Given the description of an element on the screen output the (x, y) to click on. 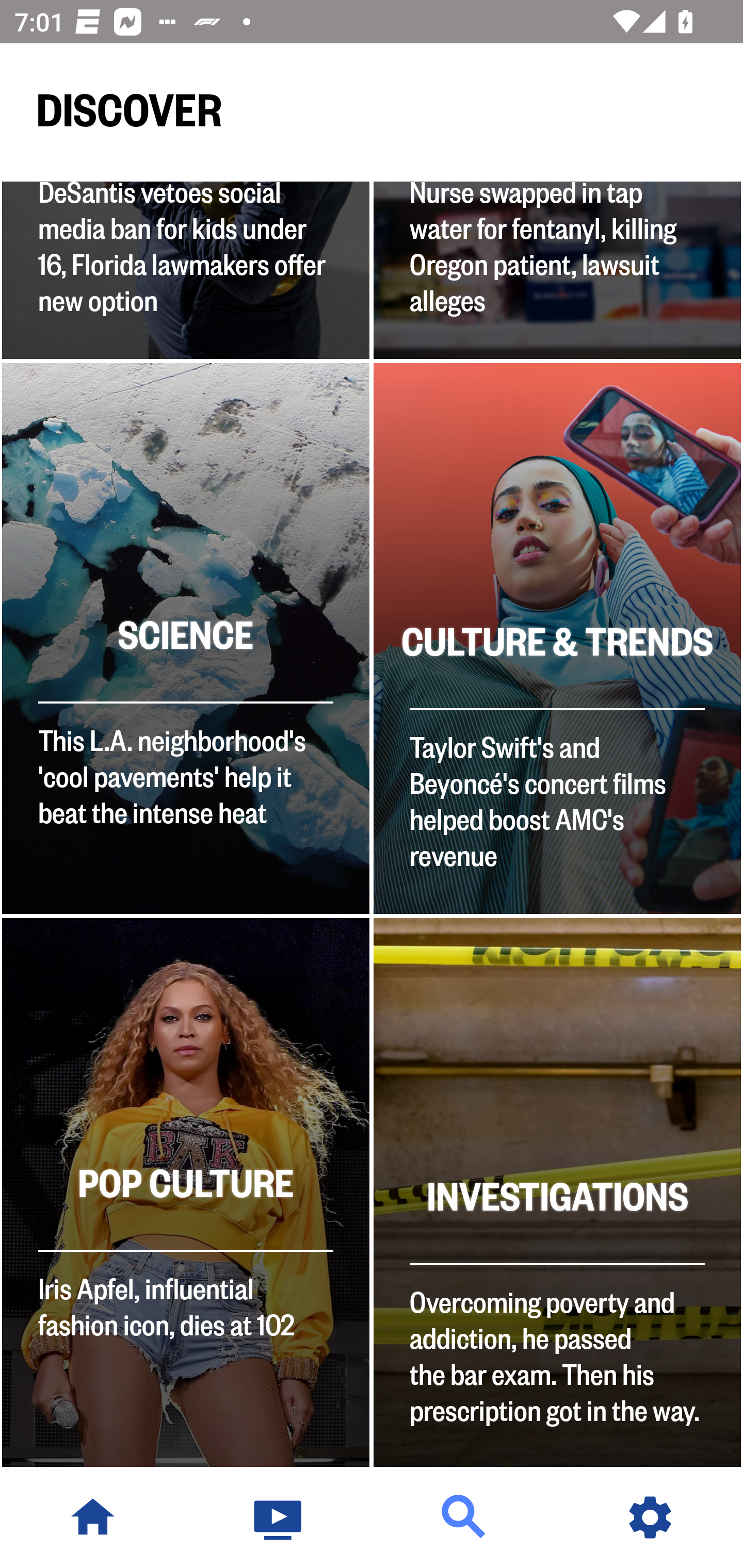
NBC News Home (92, 1517)
Watch (278, 1517)
Settings (650, 1517)
